Given the description of an element on the screen output the (x, y) to click on. 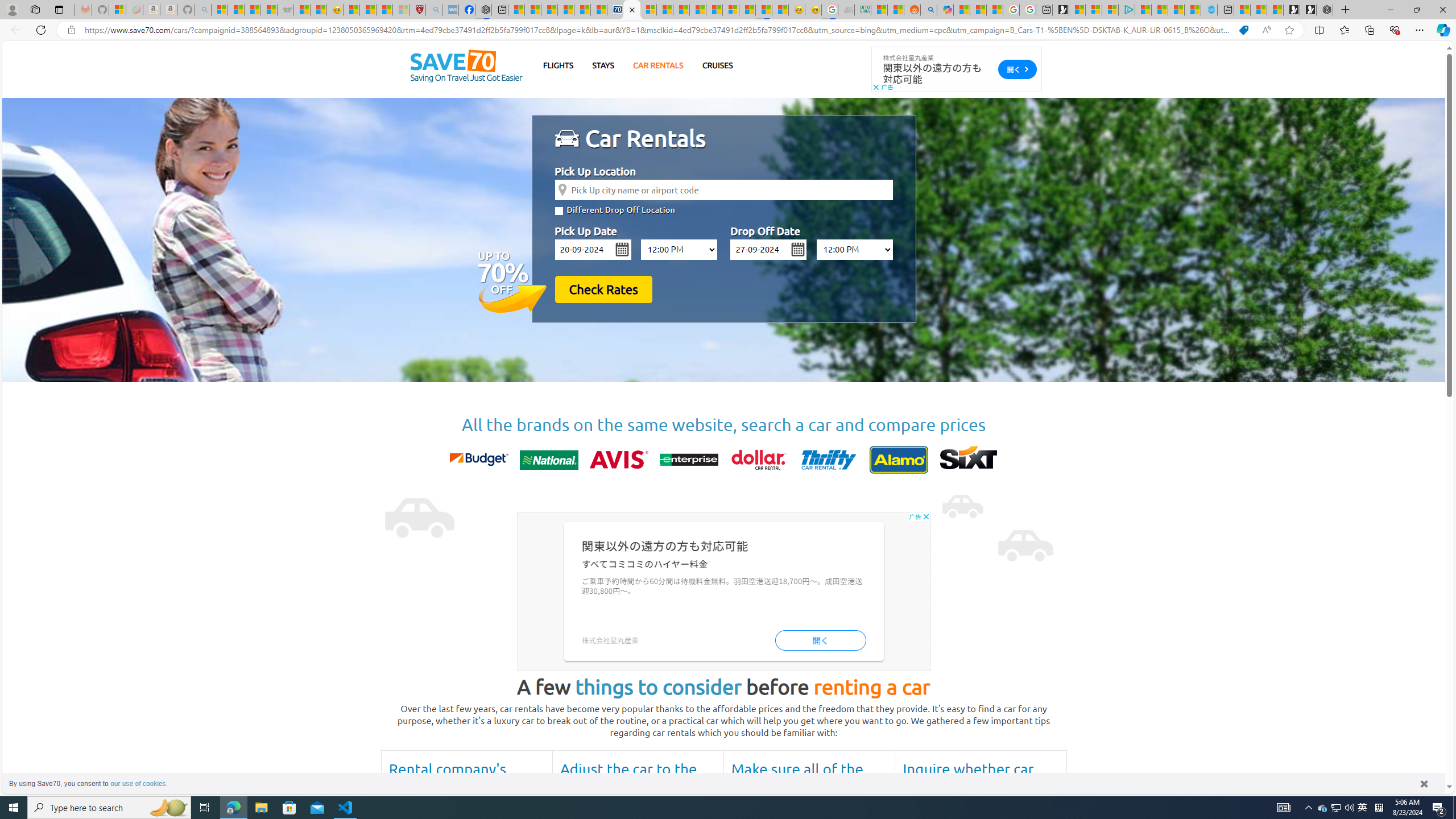
sixt (968, 459)
CRUISES (717, 65)
CRUISES (717, 65)
